Given the description of an element on the screen output the (x, y) to click on. 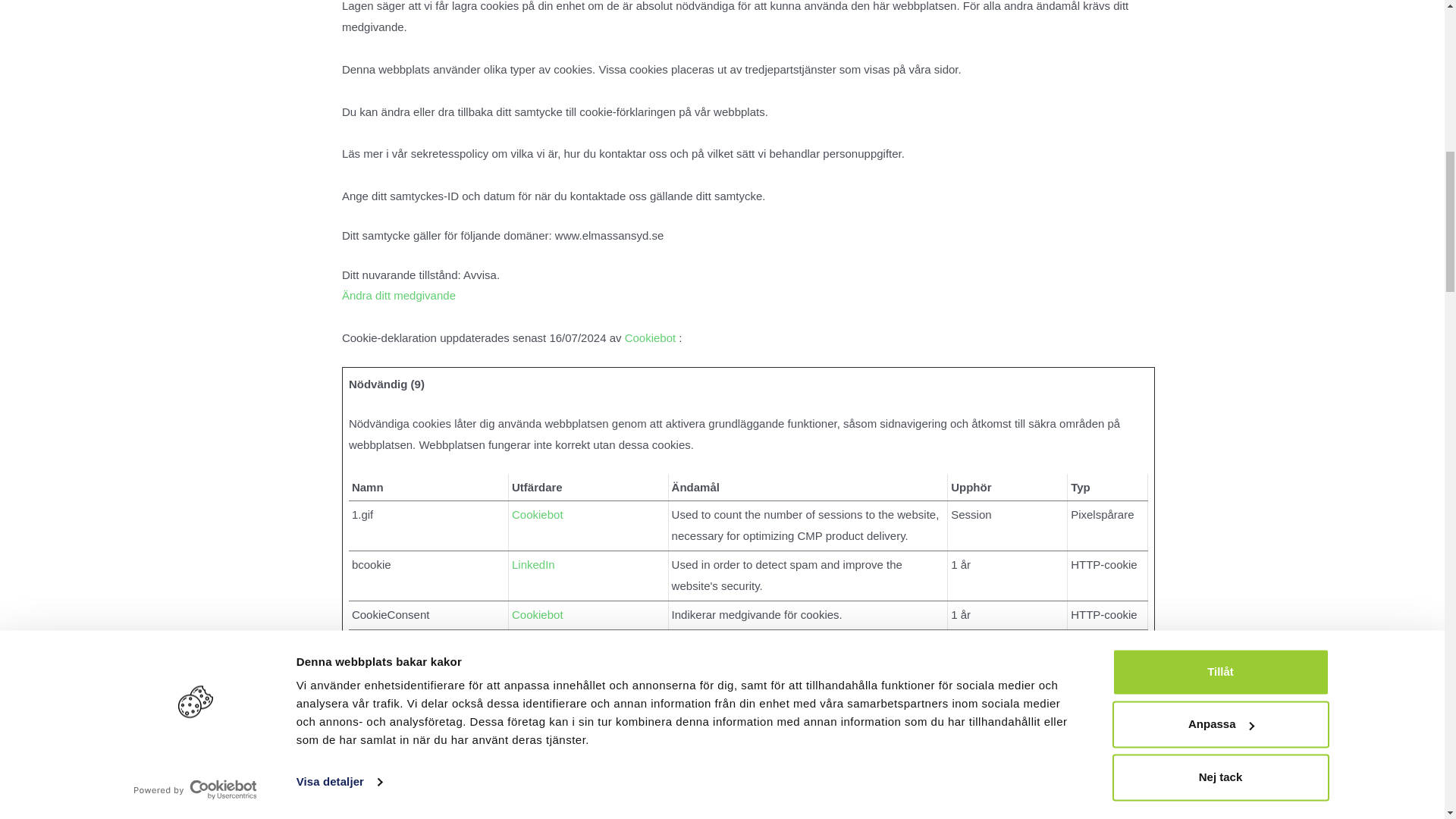
Cookiebot (650, 337)
